Given the description of an element on the screen output the (x, y) to click on. 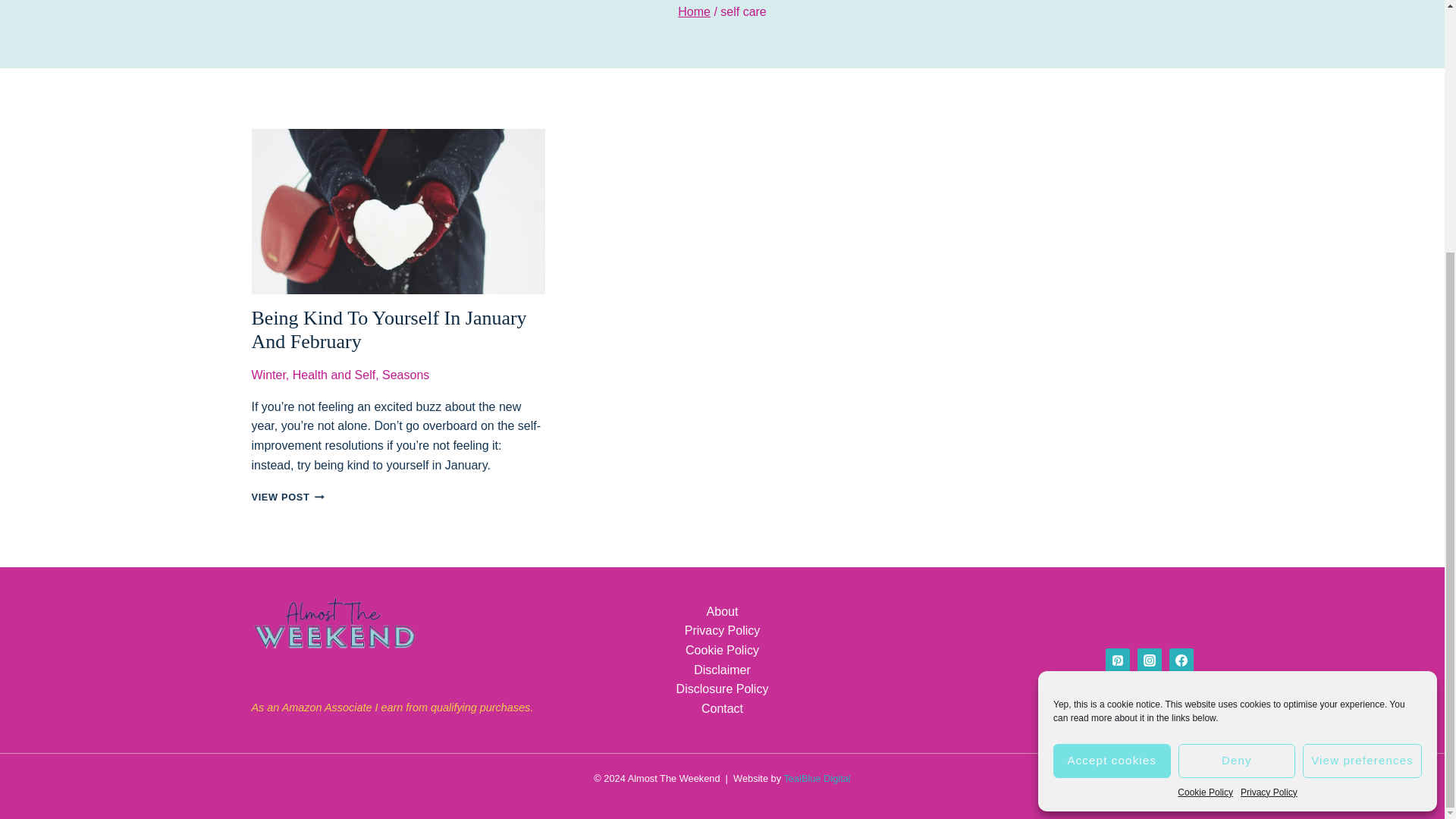
Accept cookies (1111, 404)
Deny (1236, 404)
Privacy Policy (1268, 436)
View preferences (1362, 404)
Cookie Policy (1205, 436)
